Given the description of an element on the screen output the (x, y) to click on. 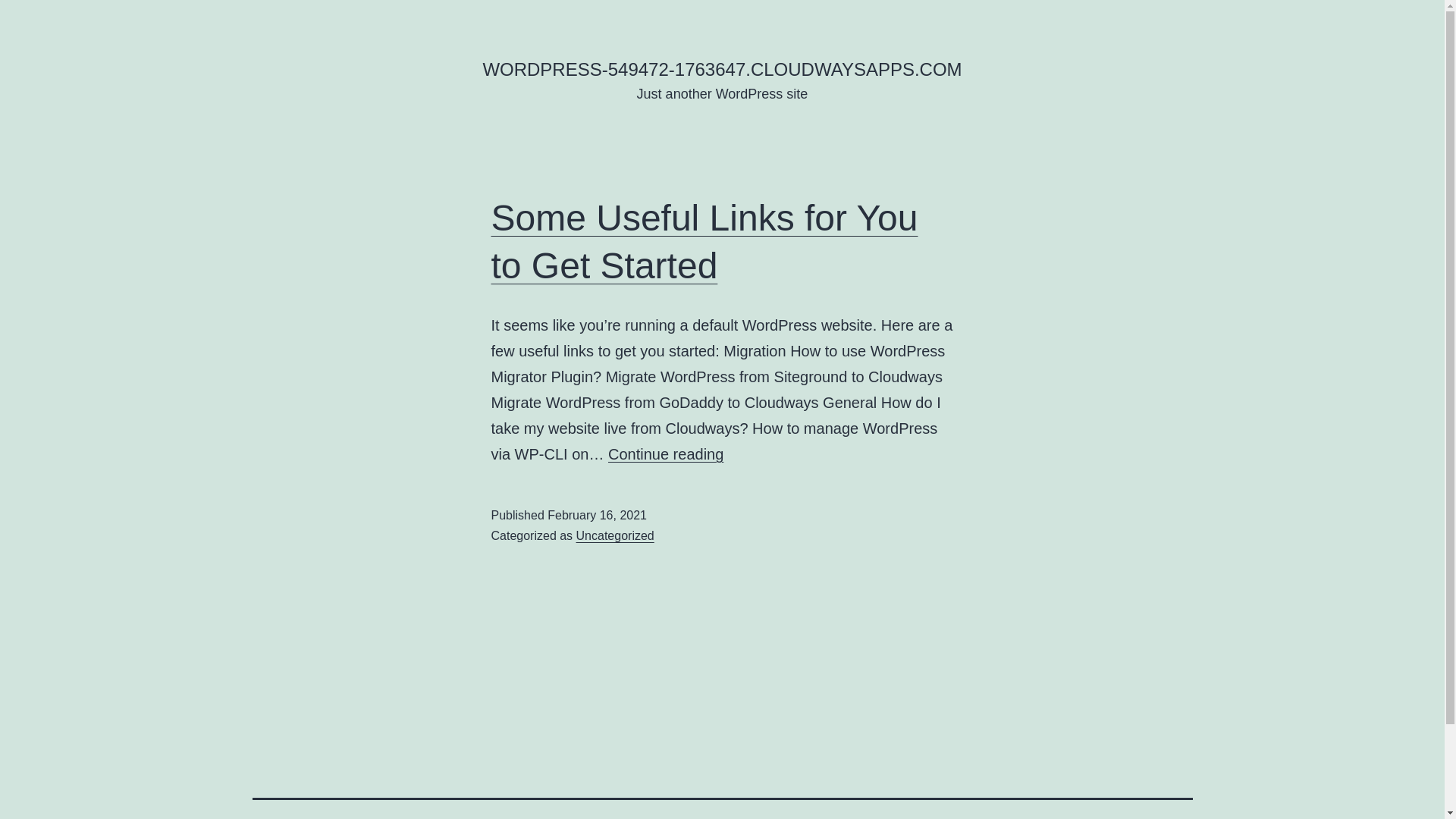
Uncategorized Element type: text (615, 535)
Some Useful Links for You to Get Started Element type: text (704, 241)
Continue reading
Some Useful Links for You to Get Started Element type: text (665, 453)
